Given the description of an element on the screen output the (x, y) to click on. 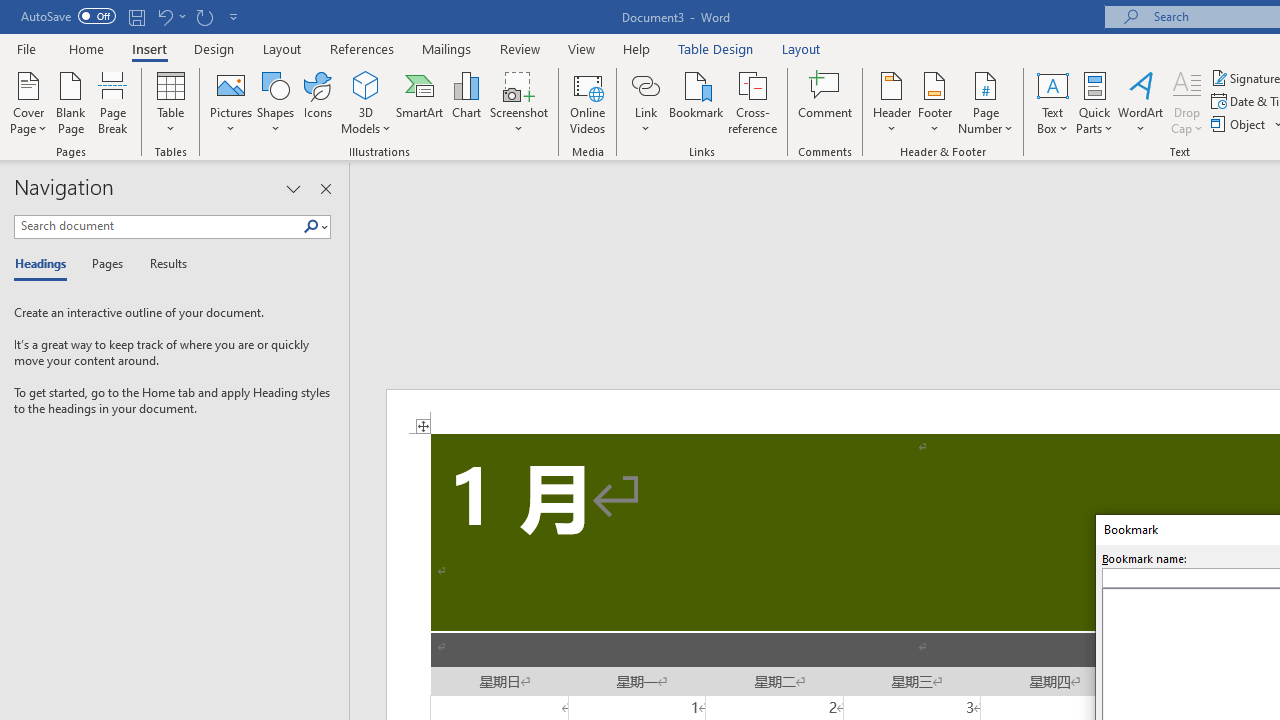
Search document (157, 226)
Header (891, 102)
Text Box (1052, 102)
Headings (45, 264)
Insert (149, 48)
Pictures (230, 102)
Quick Parts (1094, 102)
Link (645, 102)
Mailings (447, 48)
Icons (317, 102)
Layout (801, 48)
